Given the description of an element on the screen output the (x, y) to click on. 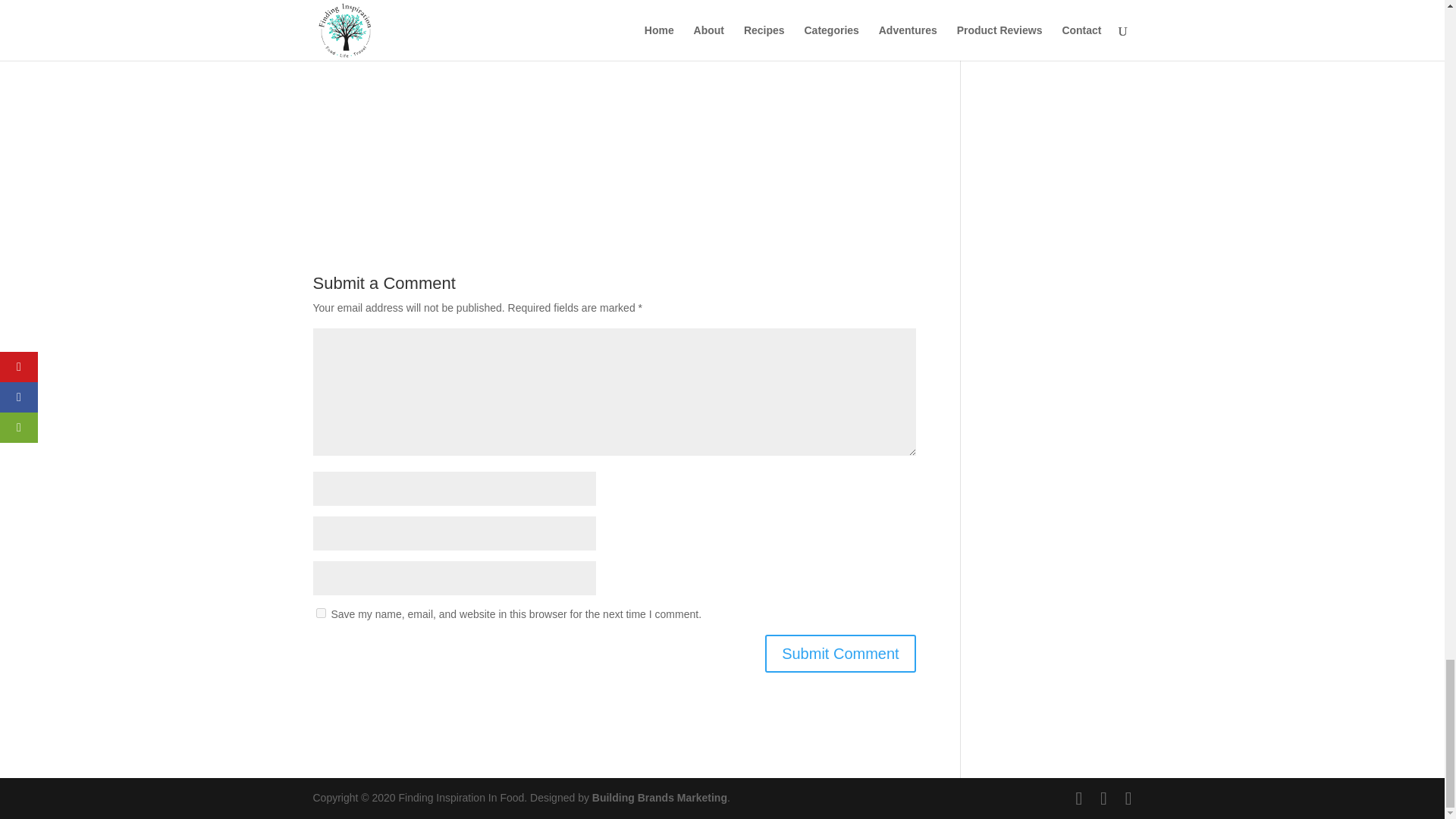
Submit Comment (840, 653)
Building Brands Marketing (659, 797)
yes (319, 613)
Submit Comment (840, 653)
